Given the description of an element on the screen output the (x, y) to click on. 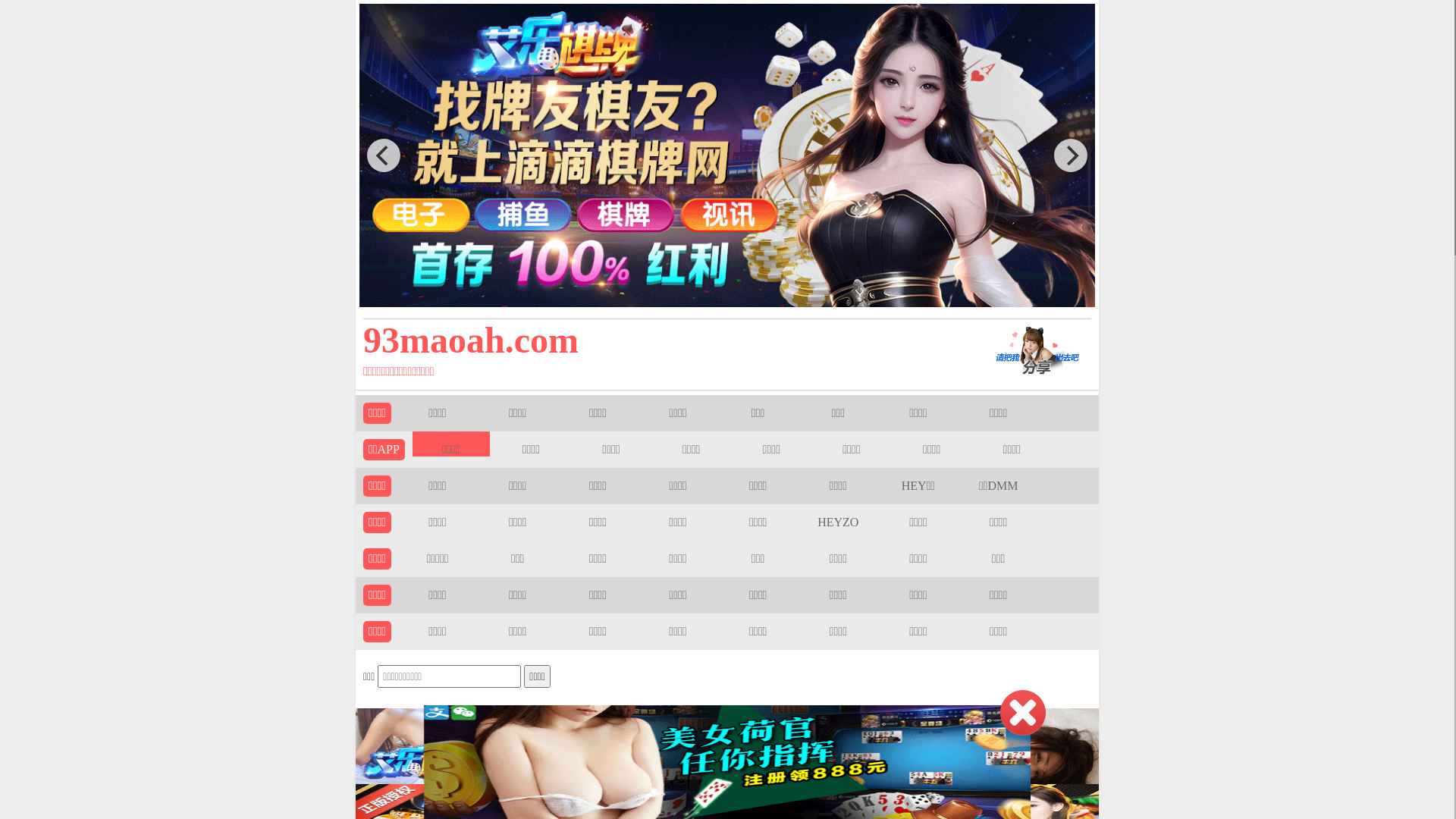
93maoah.com Element type: text (654, 339)
HEYZO Element type: text (837, 521)
